Given the description of an element on the screen output the (x, y) to click on. 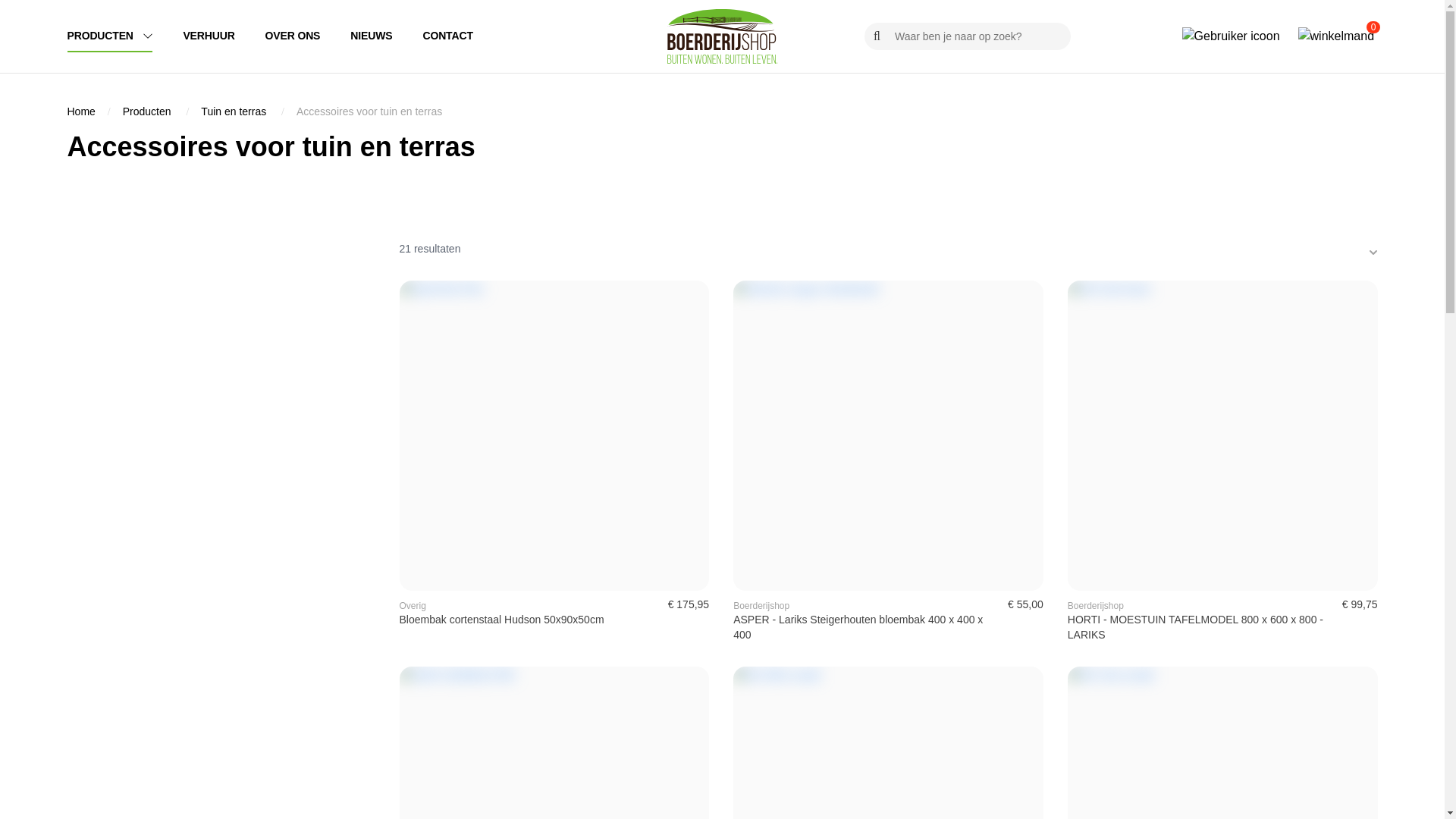
Tuin en terras Element type: text (233, 111)
0
  Element type: text (1337, 36)
NIEUWS Element type: text (386, 35)
Overig Element type: text (411, 605)
Bloembak cortenstaal Hudson 50x90x50cm Element type: text (513, 619)
Boerderijshop Element type: text (1095, 605)
Boerderijshop Element type: text (761, 605)
Home Element type: text (80, 111)
HORTI - MOESTUIN TAFELMODEL 800 x 600 x 800 - LARIKS Element type: text (1198, 626)
CONTACT Element type: text (447, 35)
ASPER - Lariks Steigerhouten bloembak 400 x 400 x 400 Element type: text (864, 626)
OVER ONS Element type: text (308, 35)
PRODUCTEN Element type: text (124, 35)
VERHUUR Element type: text (223, 35)
Producten Element type: text (146, 111)
